Given the description of an element on the screen output the (x, y) to click on. 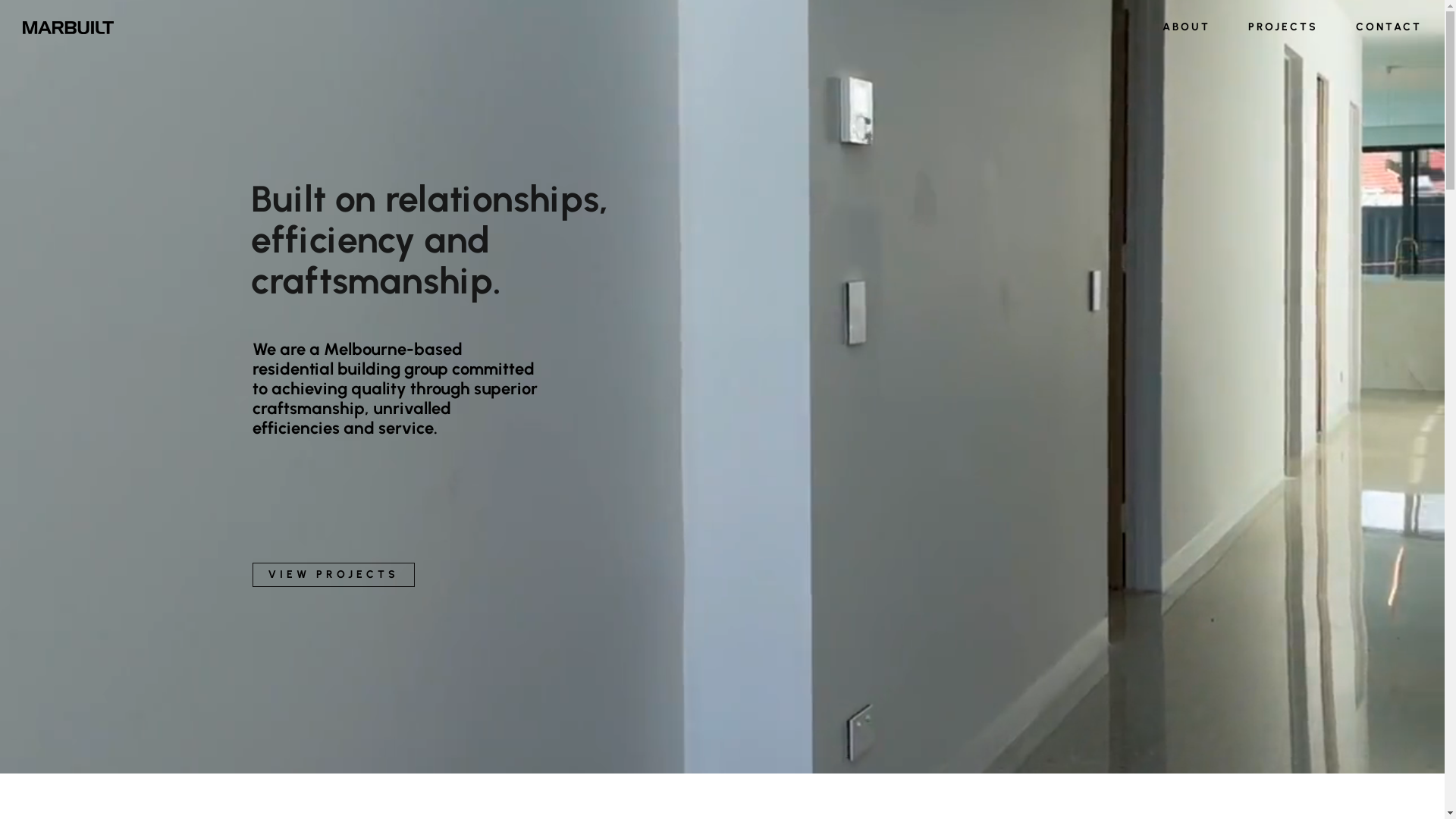
PROJECTS Element type: text (1282, 27)
VIEW PROJECTS Element type: text (333, 574)
CONTACT Element type: text (1378, 27)
ABOUT Element type: text (1186, 27)
